Given the description of an element on the screen output the (x, y) to click on. 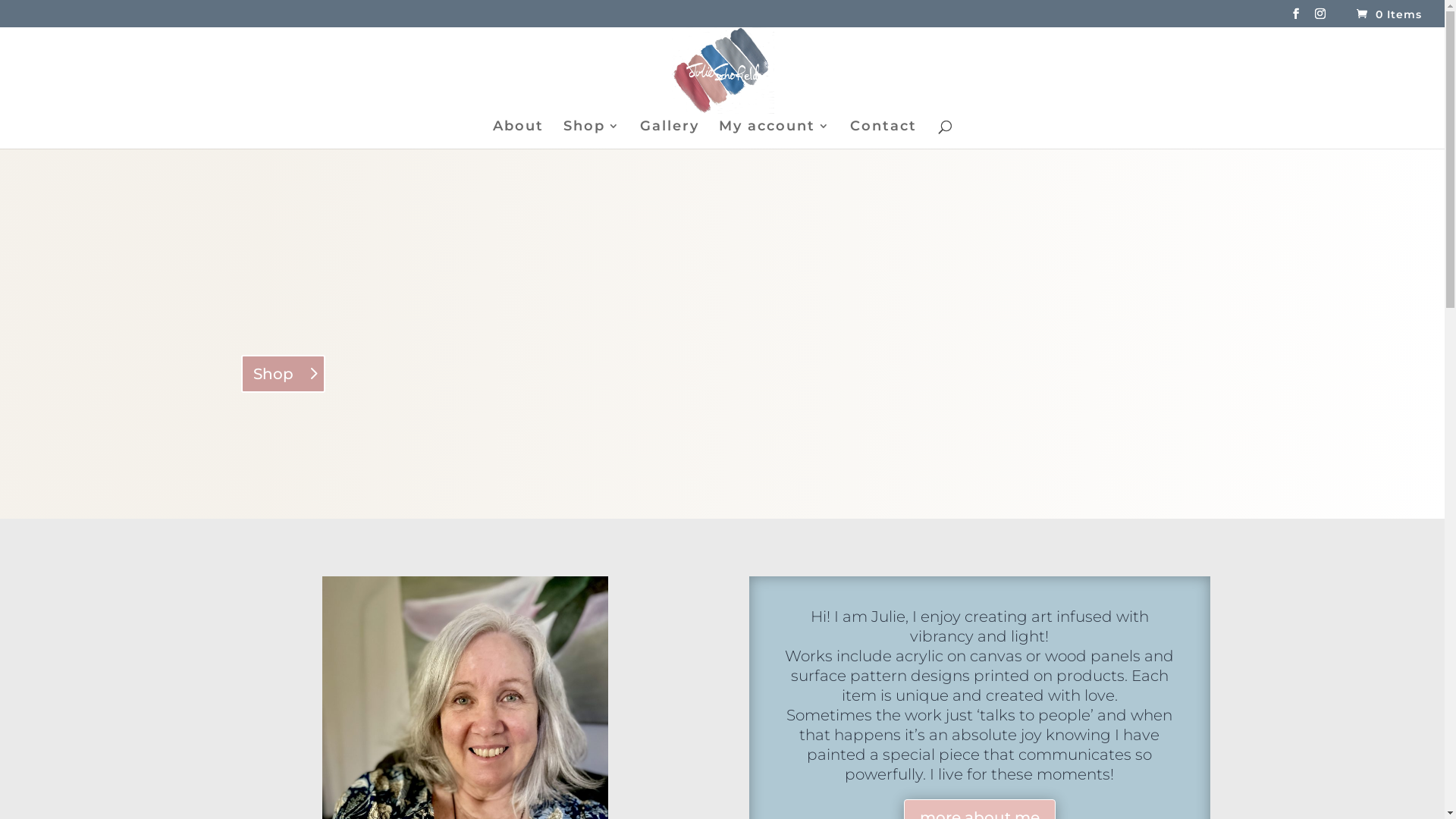
About Element type: text (517, 134)
Contact Element type: text (883, 134)
Gallery Element type: text (669, 134)
My account Element type: text (774, 134)
0 Items Element type: text (1386, 14)
Shop Element type: text (591, 134)
Shop Element type: text (283, 373)
